Given the description of an element on the screen output the (x, y) to click on. 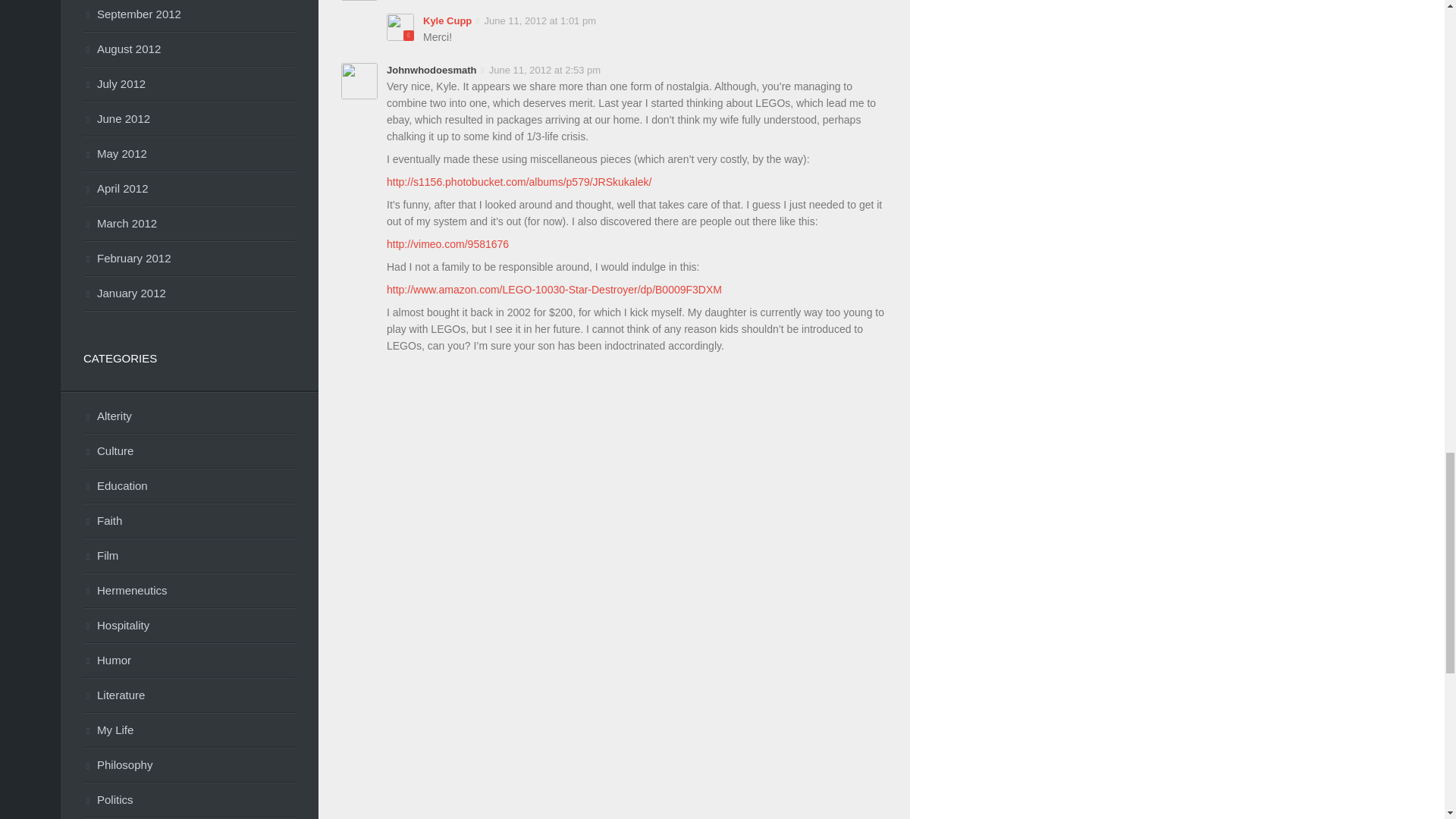
June 11, 2012 at 2:53 pm (542, 70)
June 11, 2012 at 1:01 pm (538, 20)
Kyle Cupp (447, 20)
